Given the description of an element on the screen output the (x, y) to click on. 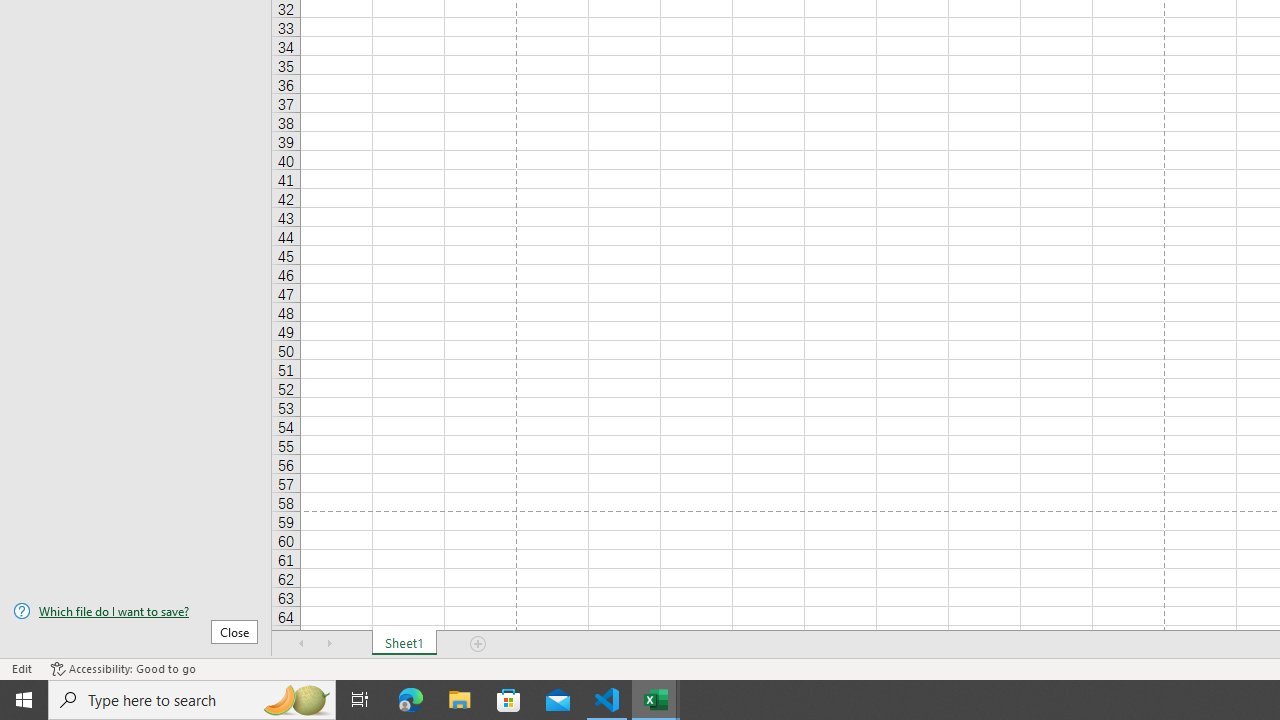
Accessibility Checker Accessibility: Good to go (123, 668)
Close (234, 631)
Type here to search (191, 699)
Visual Studio Code - 1 running window (607, 699)
Scroll Left (302, 644)
Task View (359, 699)
Search highlights icon opens search home window (295, 699)
Add Sheet (478, 644)
Microsoft Edge (411, 699)
Microsoft Store (509, 699)
Sheet1 (404, 644)
Excel - 2 running windows (656, 699)
Which file do I want to save? (136, 611)
Start (24, 699)
